Given the description of an element on the screen output the (x, y) to click on. 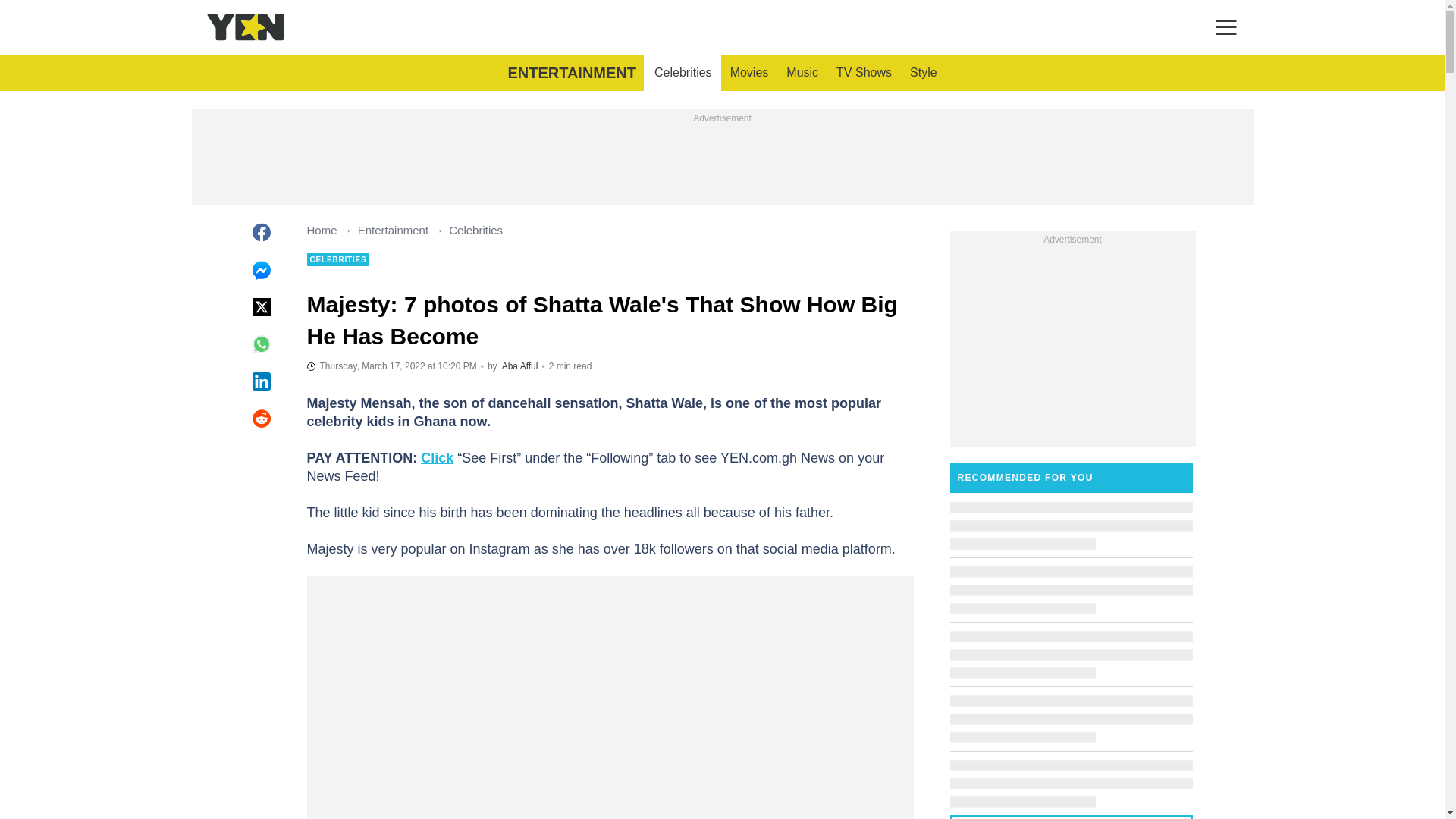
Author page (520, 366)
Celebrities (682, 72)
ENTERTAINMENT (571, 72)
Music (802, 72)
Style (923, 72)
2022-03-17T22:20:37Z (390, 366)
TV Shows (864, 72)
Movies (748, 72)
